Given the description of an element on the screen output the (x, y) to click on. 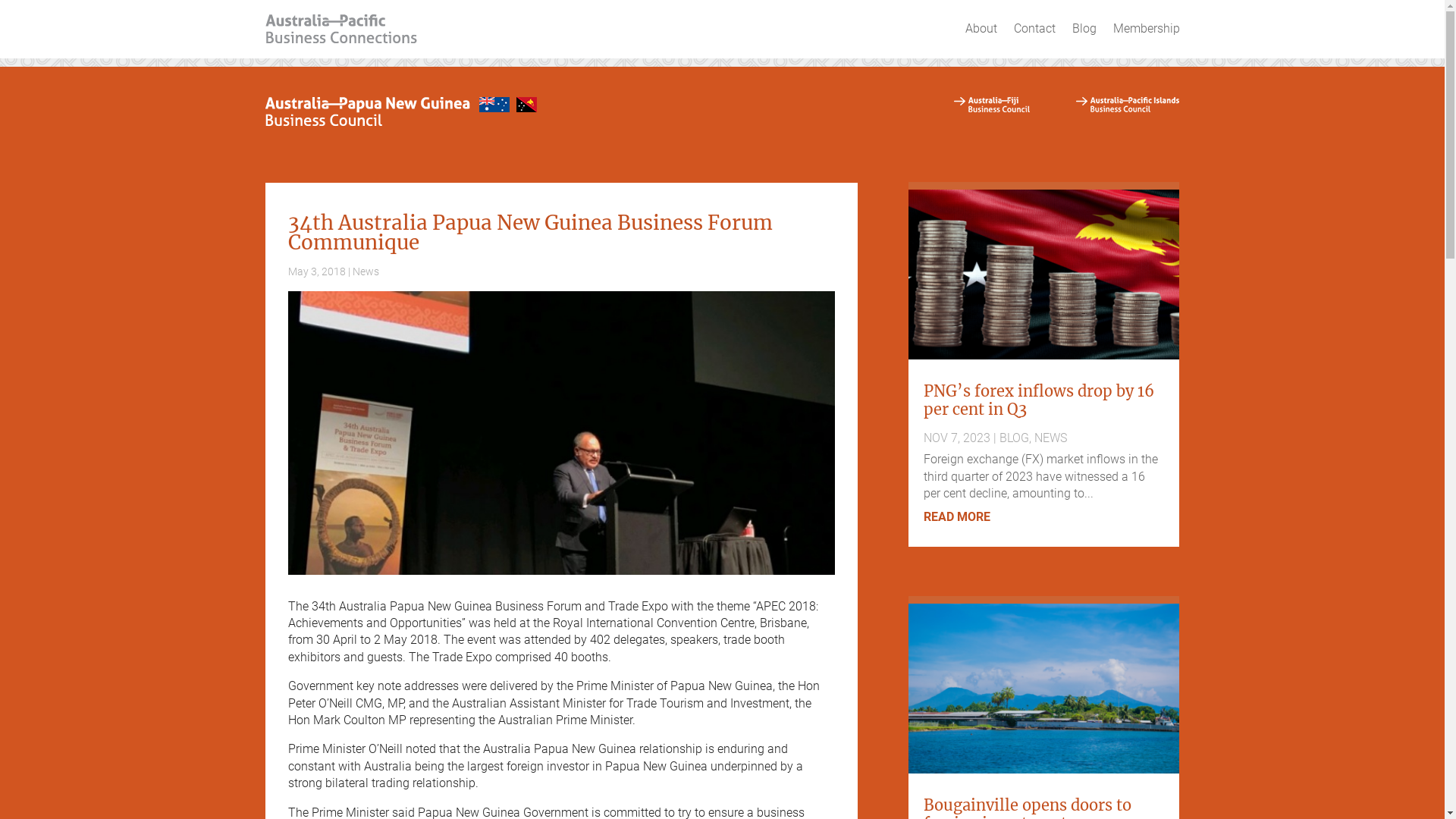
READ MORE Element type: text (956, 516)
News Element type: text (364, 271)
png-logo-2a Element type: hover (405, 111)
Prime-Minister-ONeill Element type: hover (561, 432)
BLOG Element type: text (1014, 437)
About Element type: text (980, 28)
Contact Element type: text (1033, 28)
NEWS Element type: text (1050, 437)
Blog Element type: text (1084, 28)
Membership Element type: text (1146, 28)
